Given the description of an element on the screen output the (x, y) to click on. 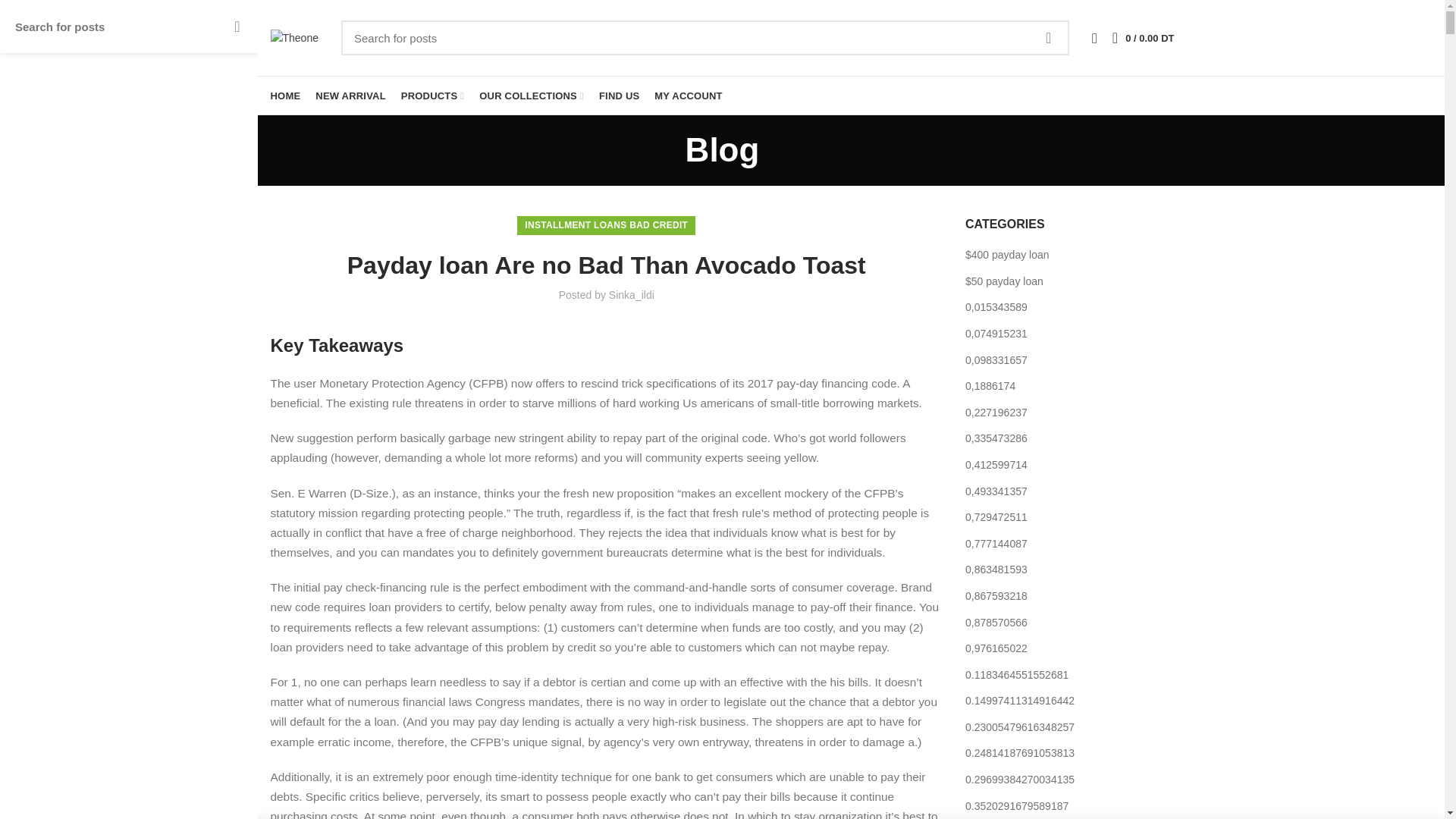
SEARCH (1048, 37)
HOME (284, 95)
NEW ARRIVAL (350, 95)
